Given the description of an element on the screen output the (x, y) to click on. 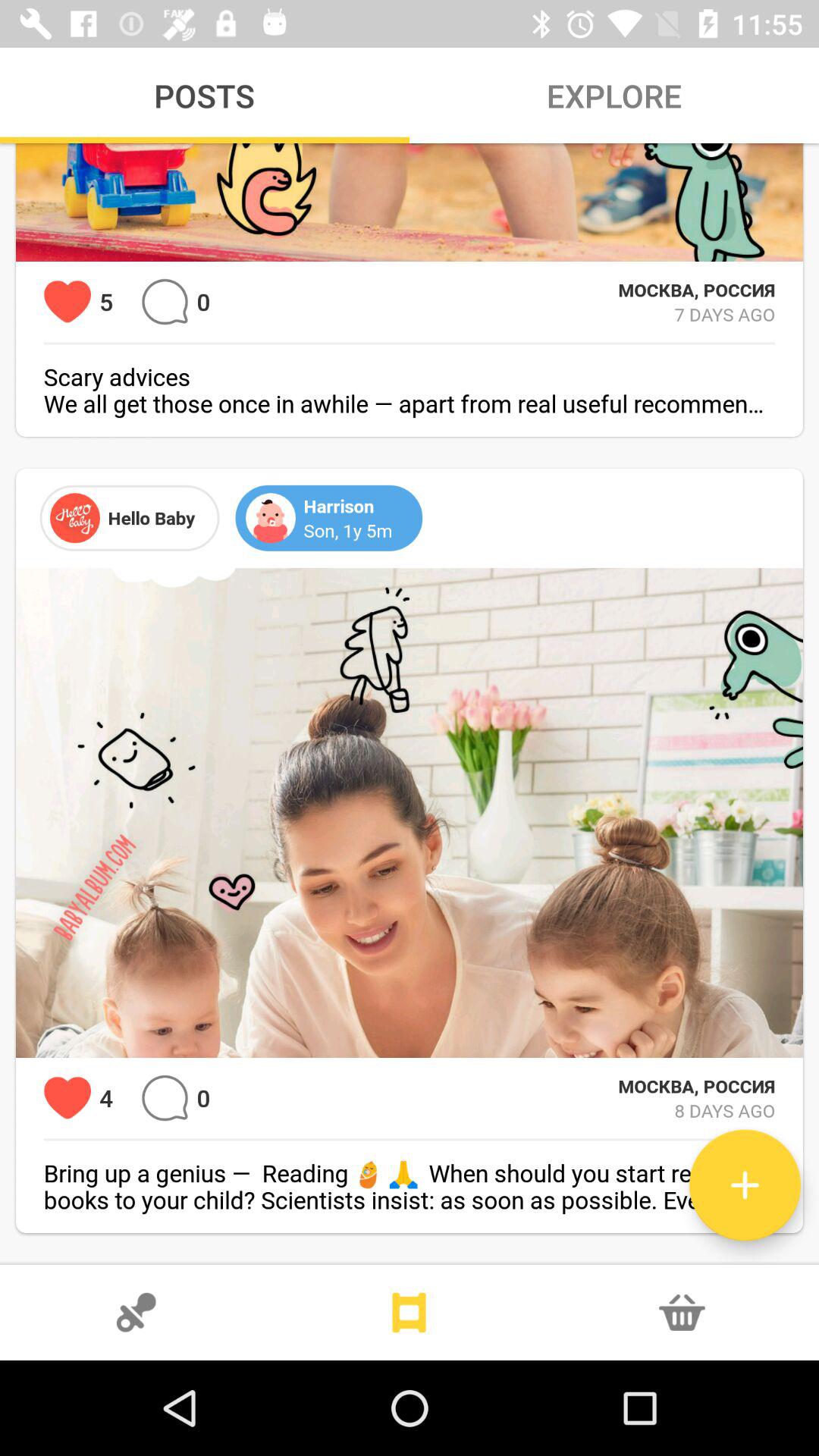
toggle favorite (67, 1098)
